Given the description of an element on the screen output the (x, y) to click on. 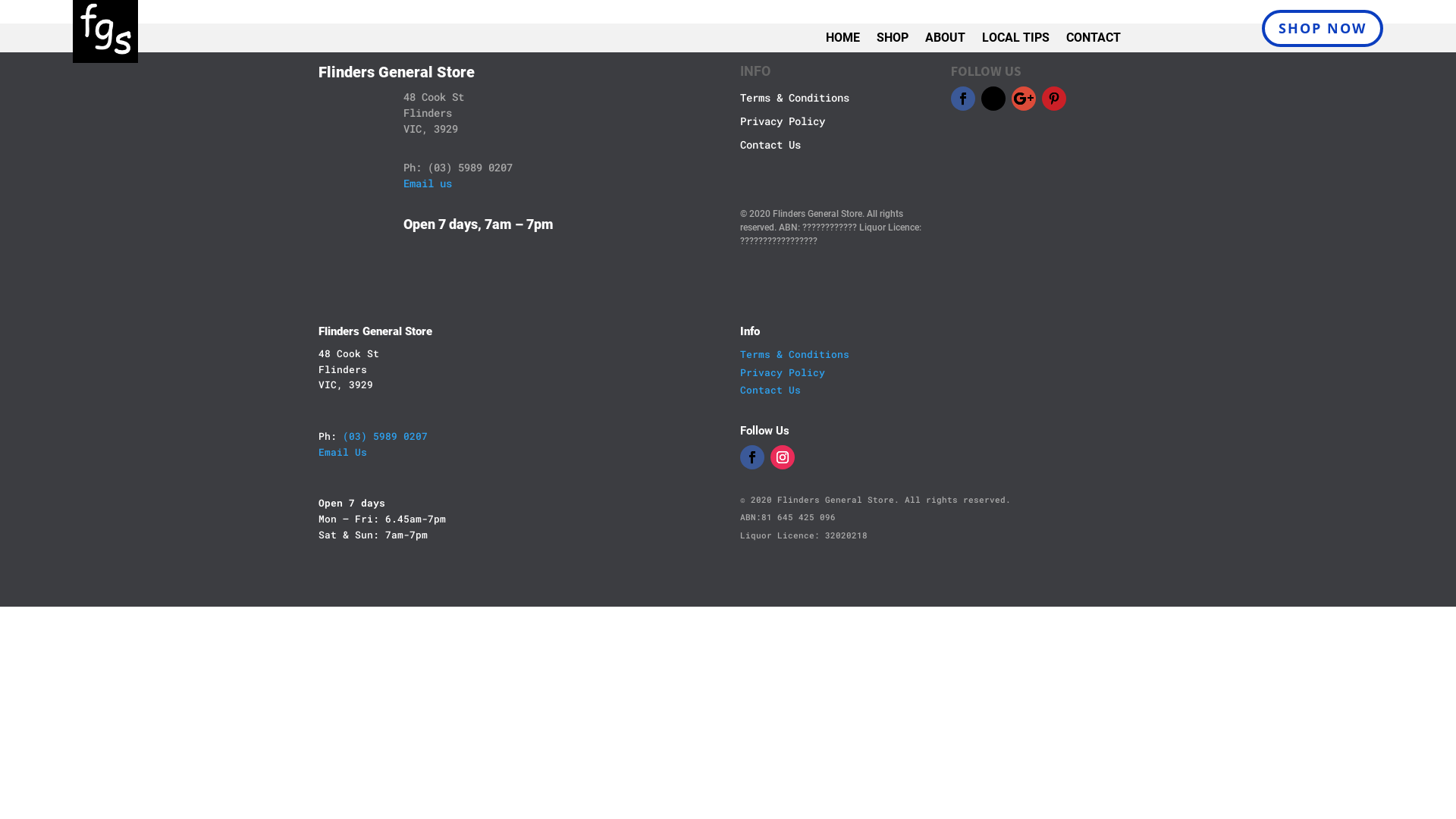
Follow on Google+ Element type: hover (1023, 98)
Follow on Pinterest Element type: hover (1053, 98)
SHOP Element type: text (892, 40)
HOME Element type: text (842, 40)
Email Us Element type: text (342, 451)
Follow on Facebook Element type: hover (752, 457)
Email us Element type: text (427, 182)
SHOP NOW Element type: text (1322, 28)
CONTACT Element type: text (1093, 40)
(03) 5989 0207 Element type: text (384, 435)
ABOUT Element type: text (945, 40)
Privacy Policy Element type: text (782, 372)
Follow on Instagram Element type: hover (782, 457)
LOCAL TIPS Element type: text (1015, 40)
Follow on Twitter Element type: hover (993, 98)
Follow on Facebook Element type: hover (962, 98)
Contact Us Element type: text (770, 389)
Terms & Conditions Element type: text (794, 353)
